Given the description of an element on the screen output the (x, y) to click on. 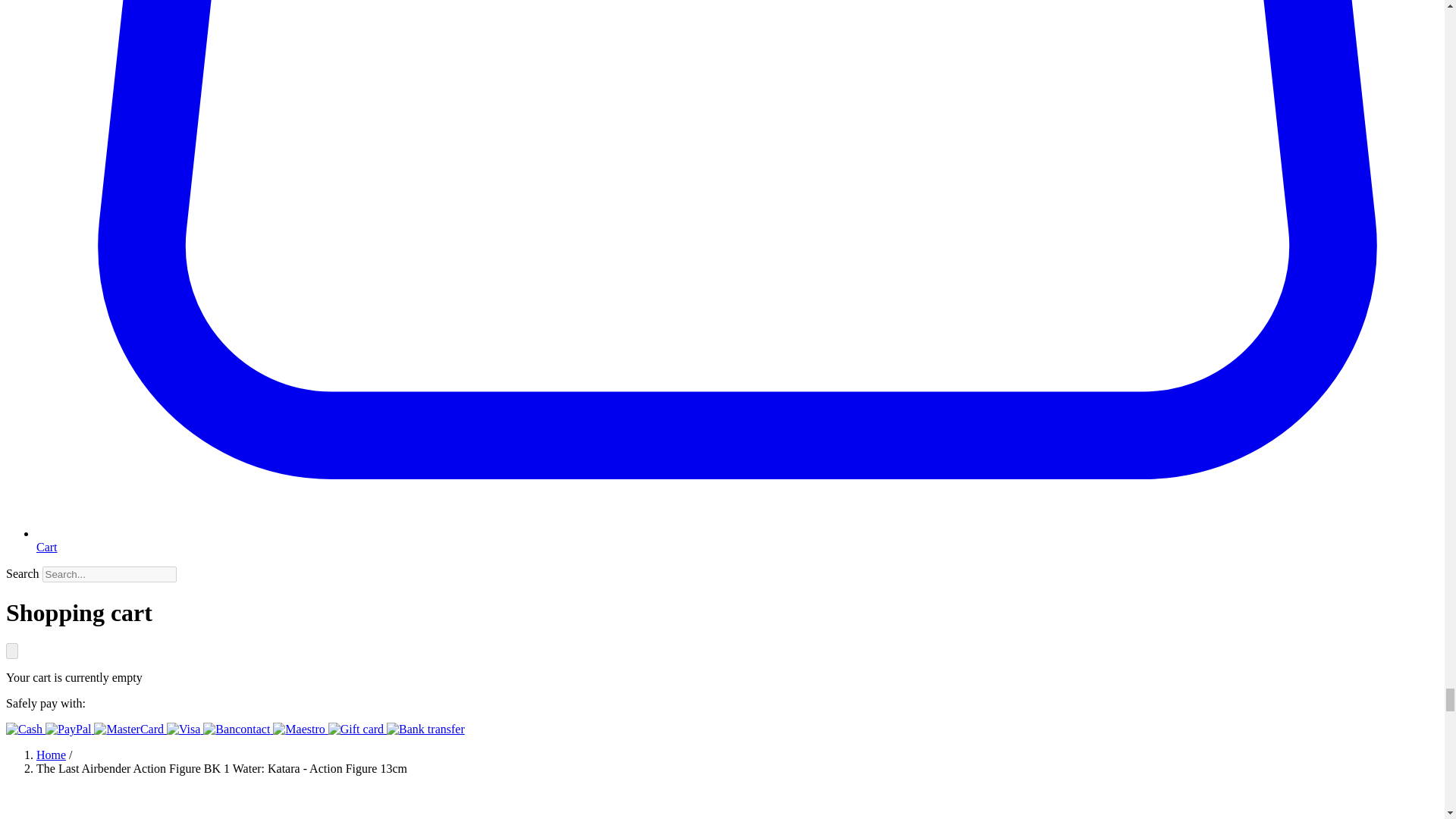
MasterCard (130, 728)
Bancontact (238, 728)
Visa (185, 728)
Share on X (491, 803)
Gift card (358, 728)
PayPal (69, 728)
Maestro (300, 728)
Cash (25, 728)
Bank transfer (425, 728)
